Given the description of an element on the screen output the (x, y) to click on. 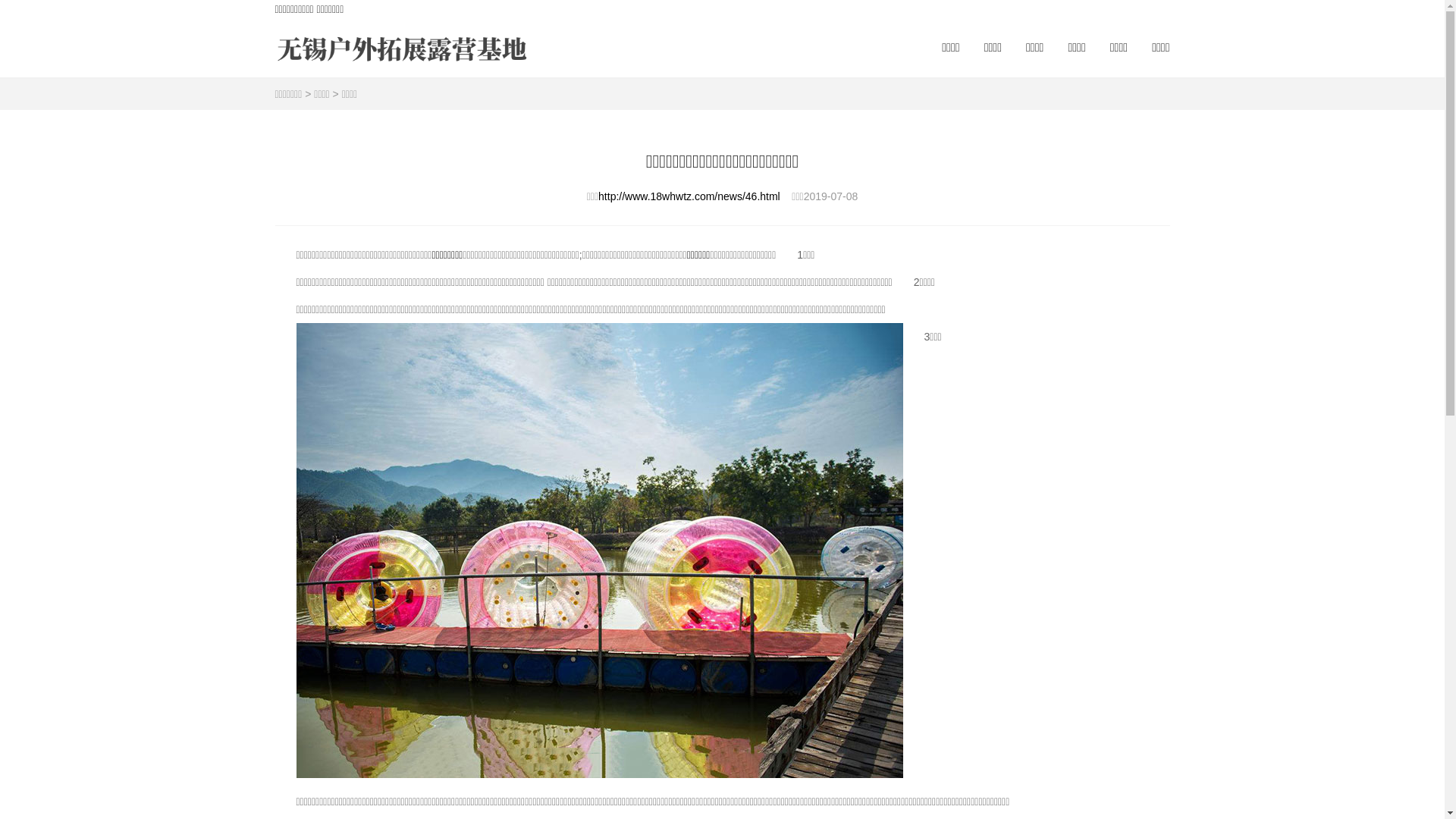
http://www.18whwtz.com/news/46.html Element type: text (689, 196)
